Given the description of an element on the screen output the (x, y) to click on. 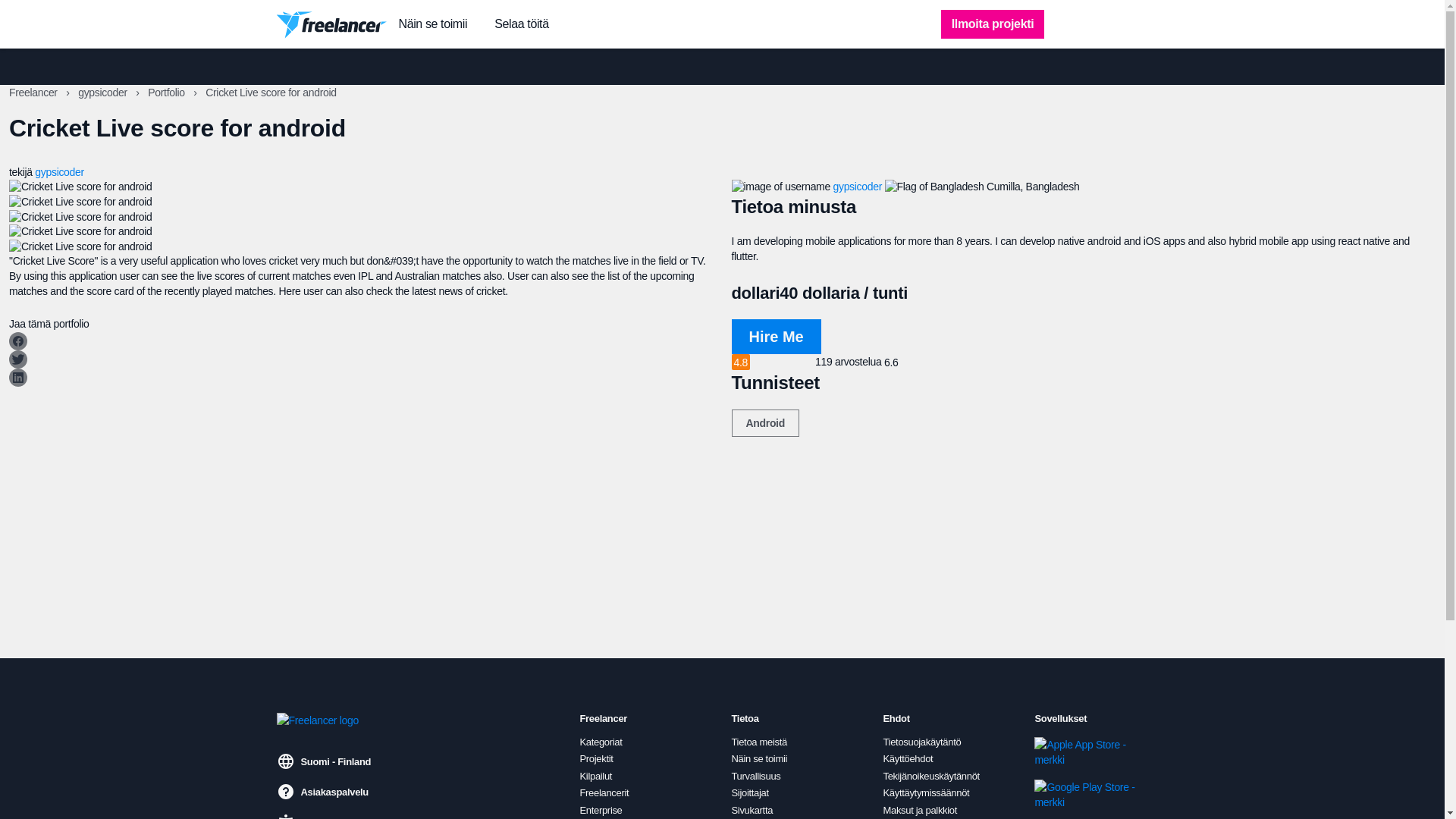
Projektit (595, 758)
Turvallisuus (755, 776)
Freelancer (33, 92)
Asiakaspalvelu (322, 791)
Freelancerit (603, 793)
Sijoittajat (749, 793)
gypsicoder (857, 186)
Hire Me (775, 336)
Lataa App Storesta (1085, 752)
gypsicoder (59, 172)
Portfolio (167, 92)
Ilmoita projekti (992, 23)
Hanki Google Playsta (1085, 794)
Suomi - Finland (323, 761)
Kategoriat (600, 742)
